Given the description of an element on the screen output the (x, y) to click on. 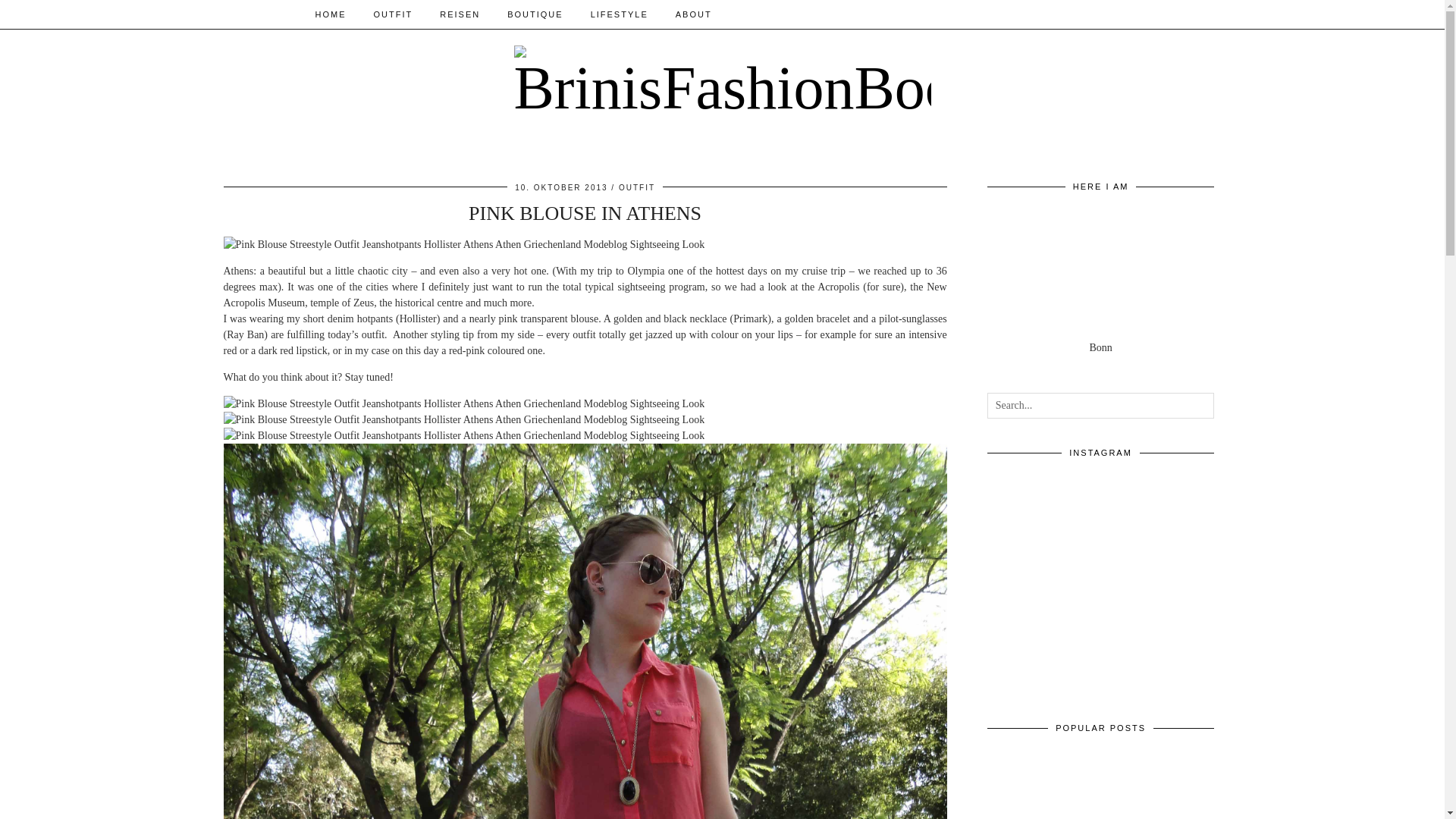
BrinisFashionBook (721, 81)
BOUTIQUE (534, 14)
OUTFIT (392, 14)
HOME (330, 14)
REISEN (459, 14)
LIFESTYLE (619, 14)
